Given the description of an element on the screen output the (x, y) to click on. 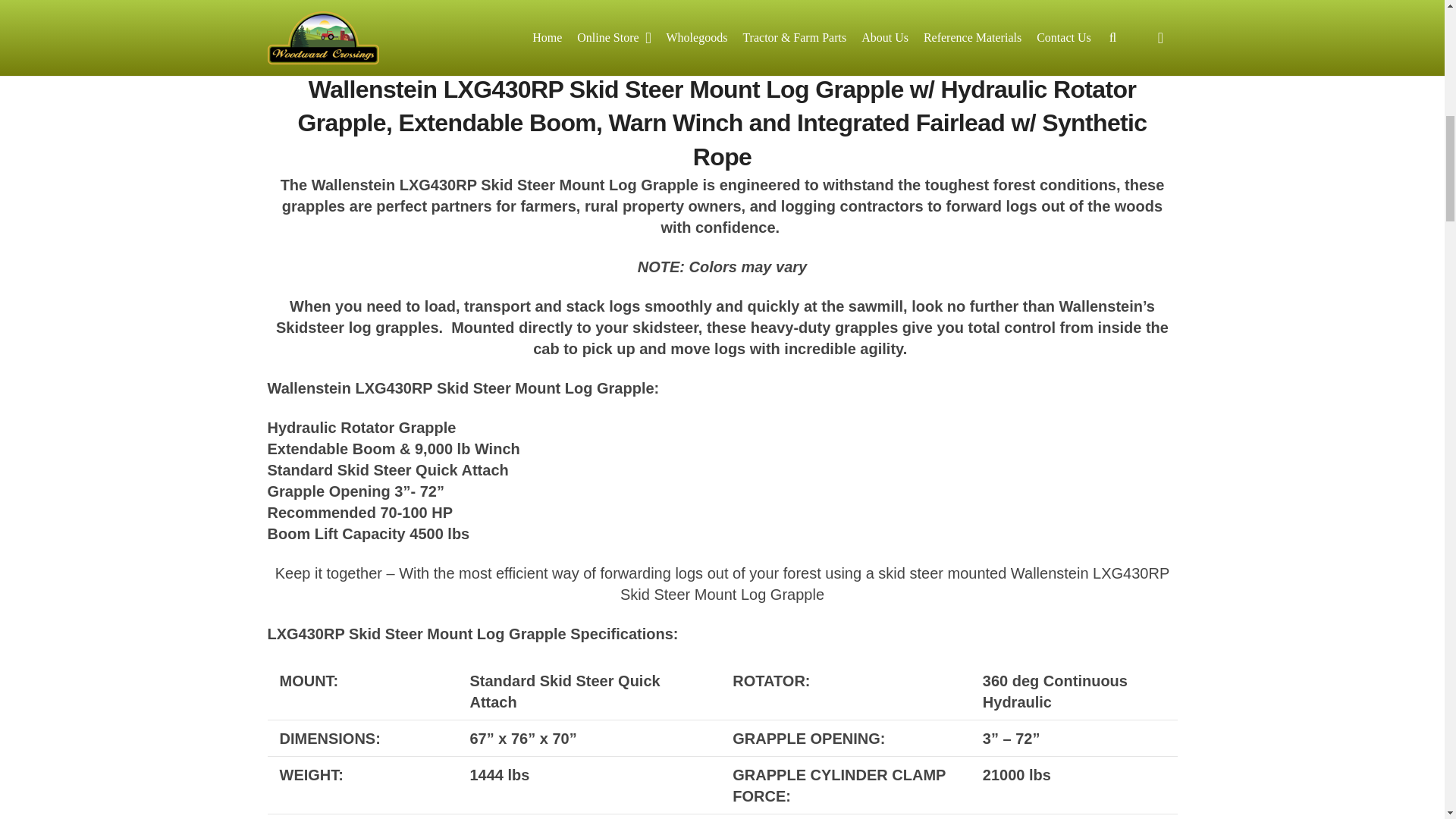
Back to top (1413, 26)
